Given the description of an element on the screen output the (x, y) to click on. 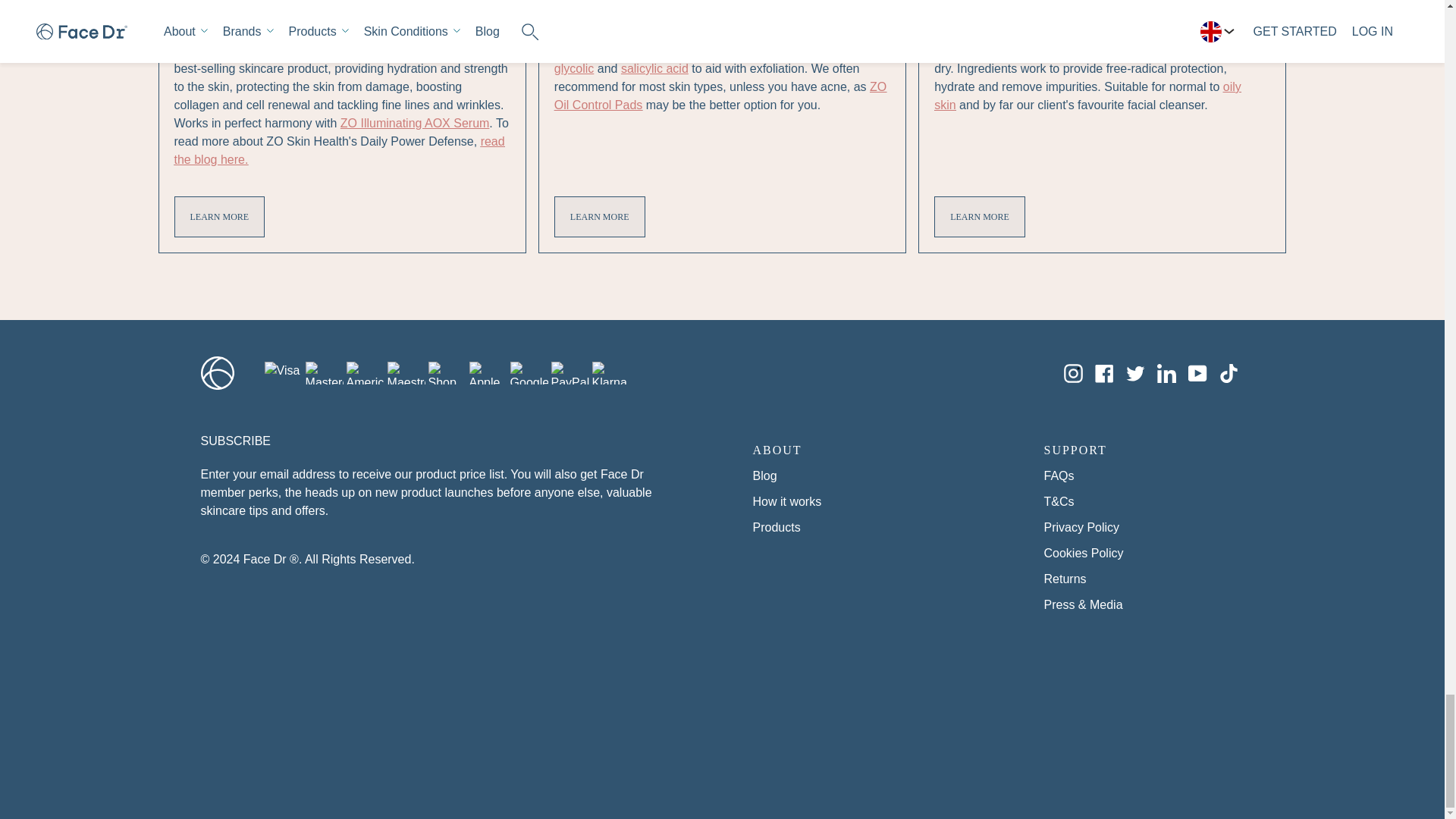
ZO Skin Health Illuminating AOX Serum (414, 123)
Learn more (219, 216)
Read more about ZO Skin Health's Daily Power Defense (339, 150)
Exfoliant collection (576, 50)
What is it salicylic acid and what can it do for your skin? (654, 68)
What is glycolic acid and how does it work? (574, 68)
